Given the description of an element on the screen output the (x, y) to click on. 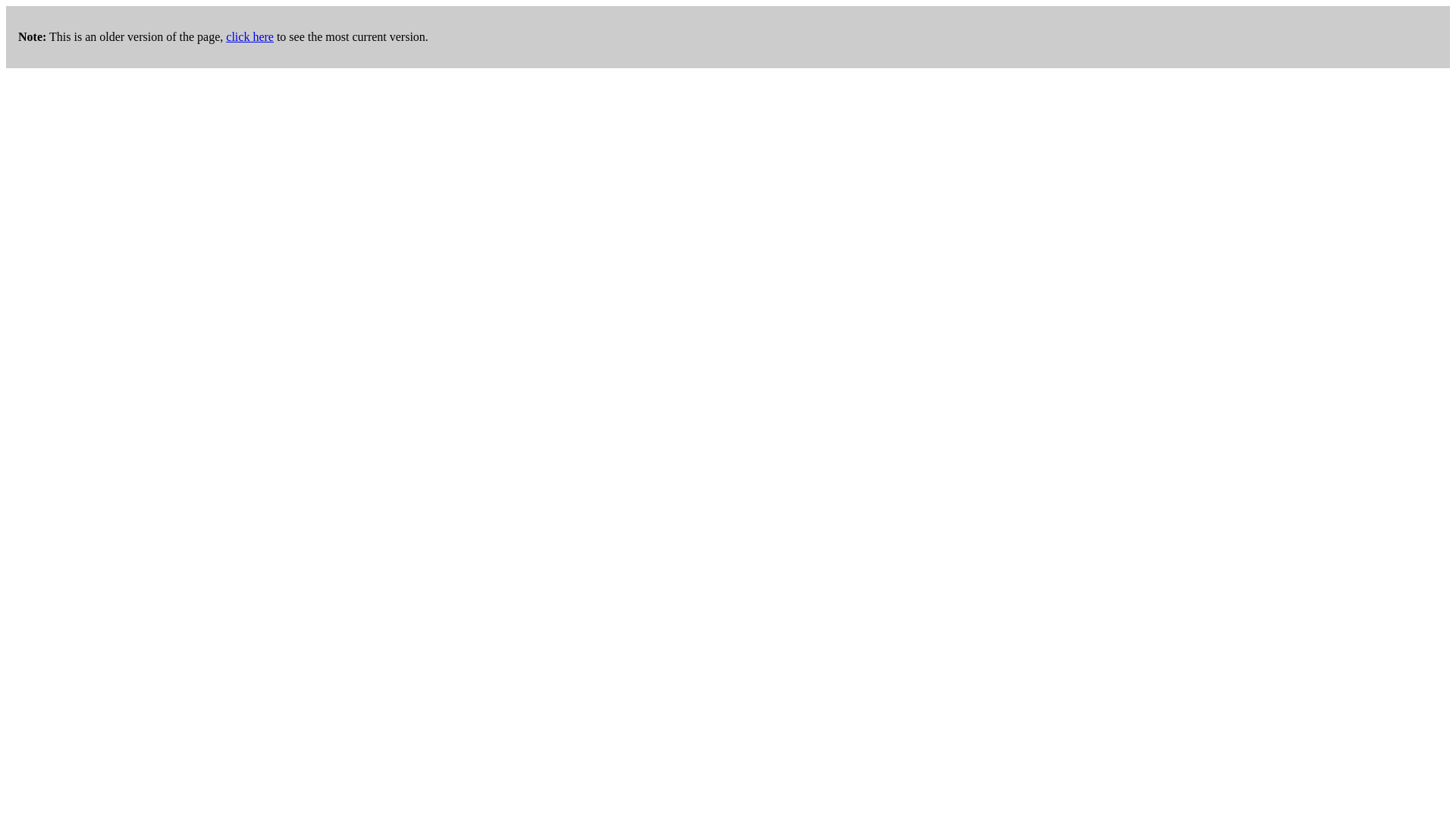
click here (249, 36)
